Given the description of an element on the screen output the (x, y) to click on. 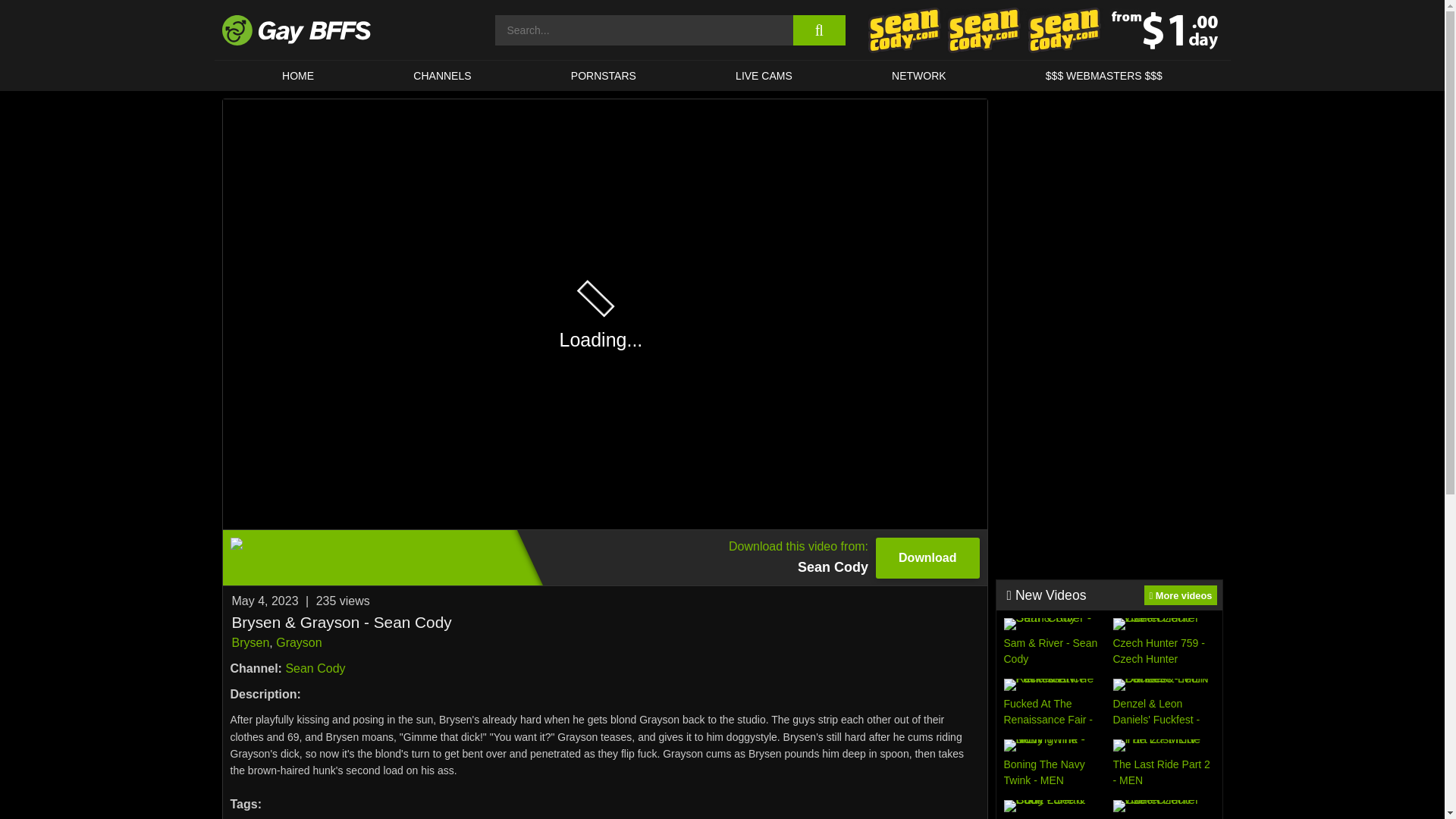
Sean Cody (315, 667)
Grayson (298, 642)
CHANNELS (442, 75)
LIVE CAMS (763, 75)
HOME (296, 75)
NETWORK (918, 75)
PORNSTARS (603, 75)
Brysen (250, 642)
